Given the description of an element on the screen output the (x, y) to click on. 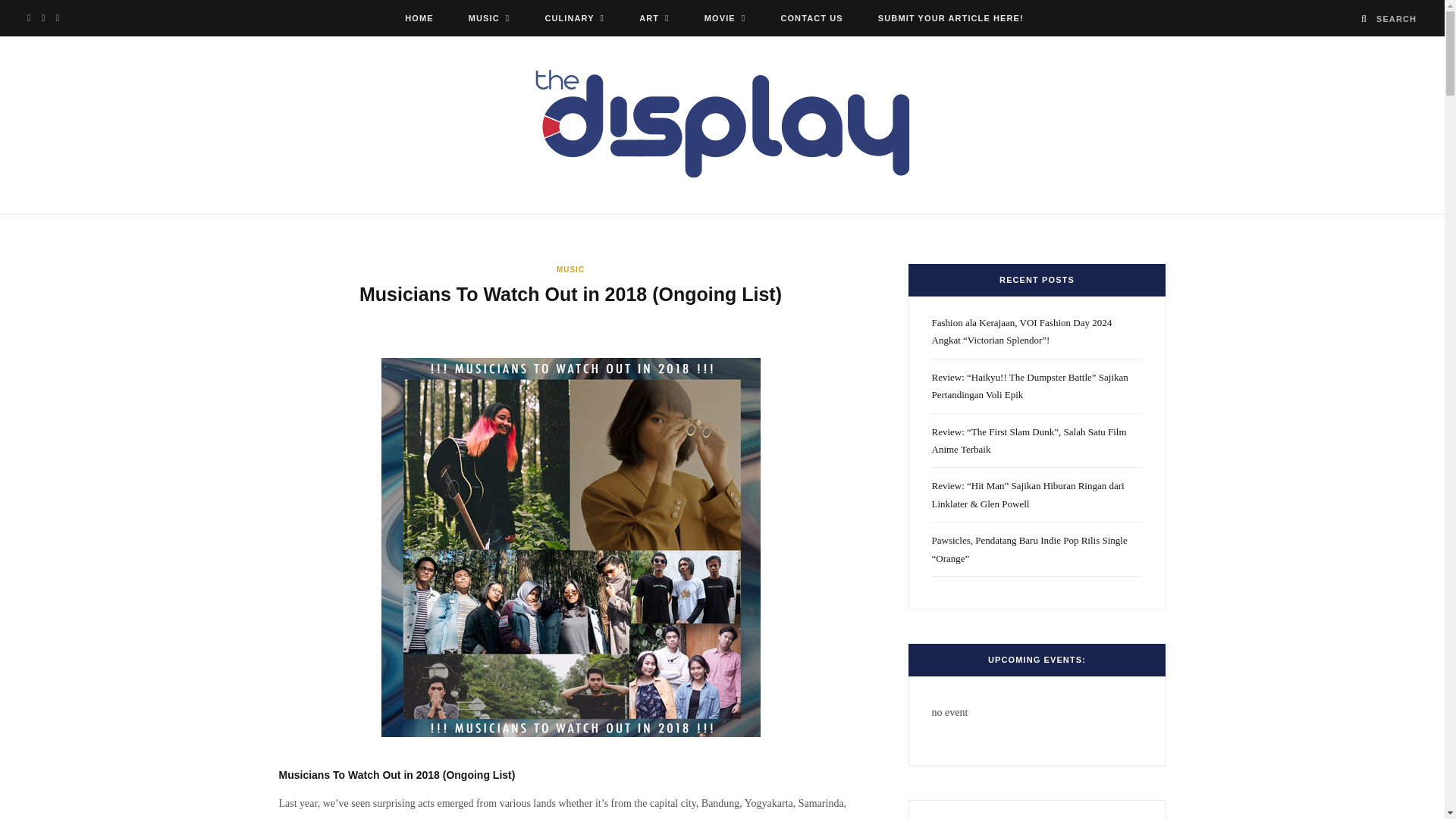
MUSIC (488, 18)
HOME (418, 18)
